Given the description of an element on the screen output the (x, y) to click on. 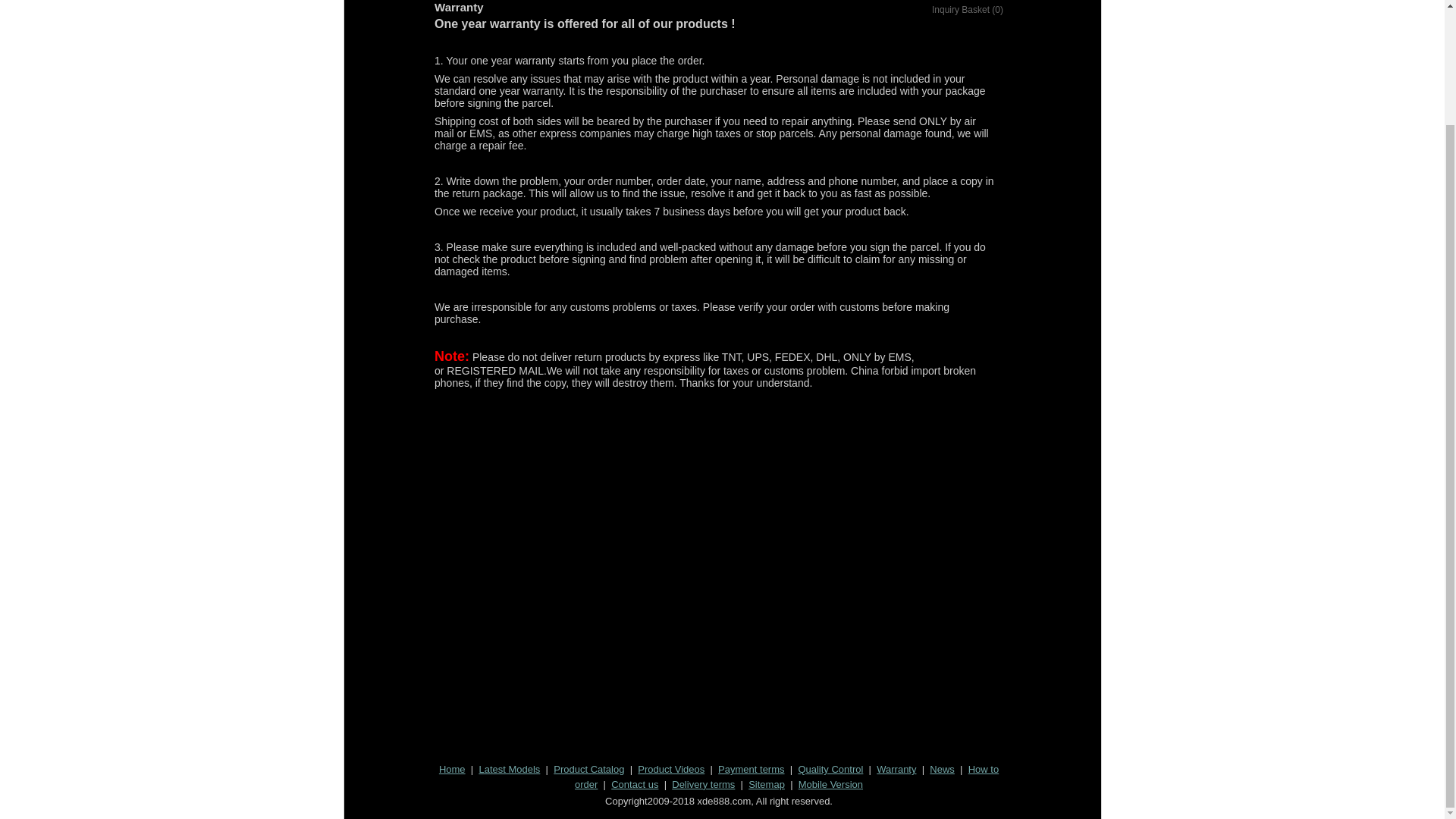
Product Catalog (588, 768)
Latest Models (509, 768)
Delivery terms (703, 783)
Mobile Version (830, 783)
Home (452, 768)
Mobile Version (830, 783)
News (942, 768)
Contact us (634, 783)
Product Videos (670, 768)
Warranty (895, 768)
